Given the description of an element on the screen output the (x, y) to click on. 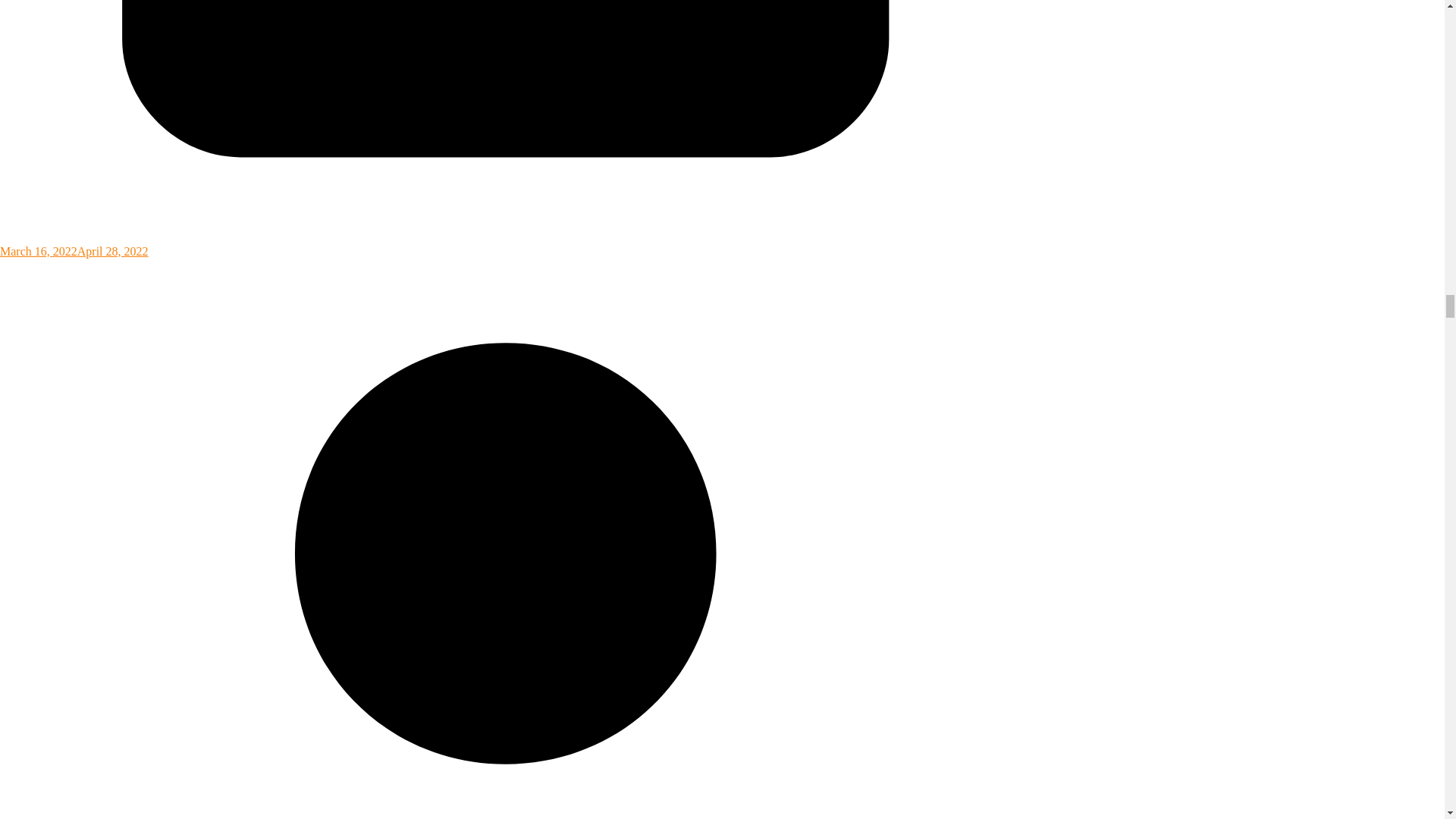
March 16, 2022April 28, 2022 (505, 243)
